Given the description of an element on the screen output the (x, y) to click on. 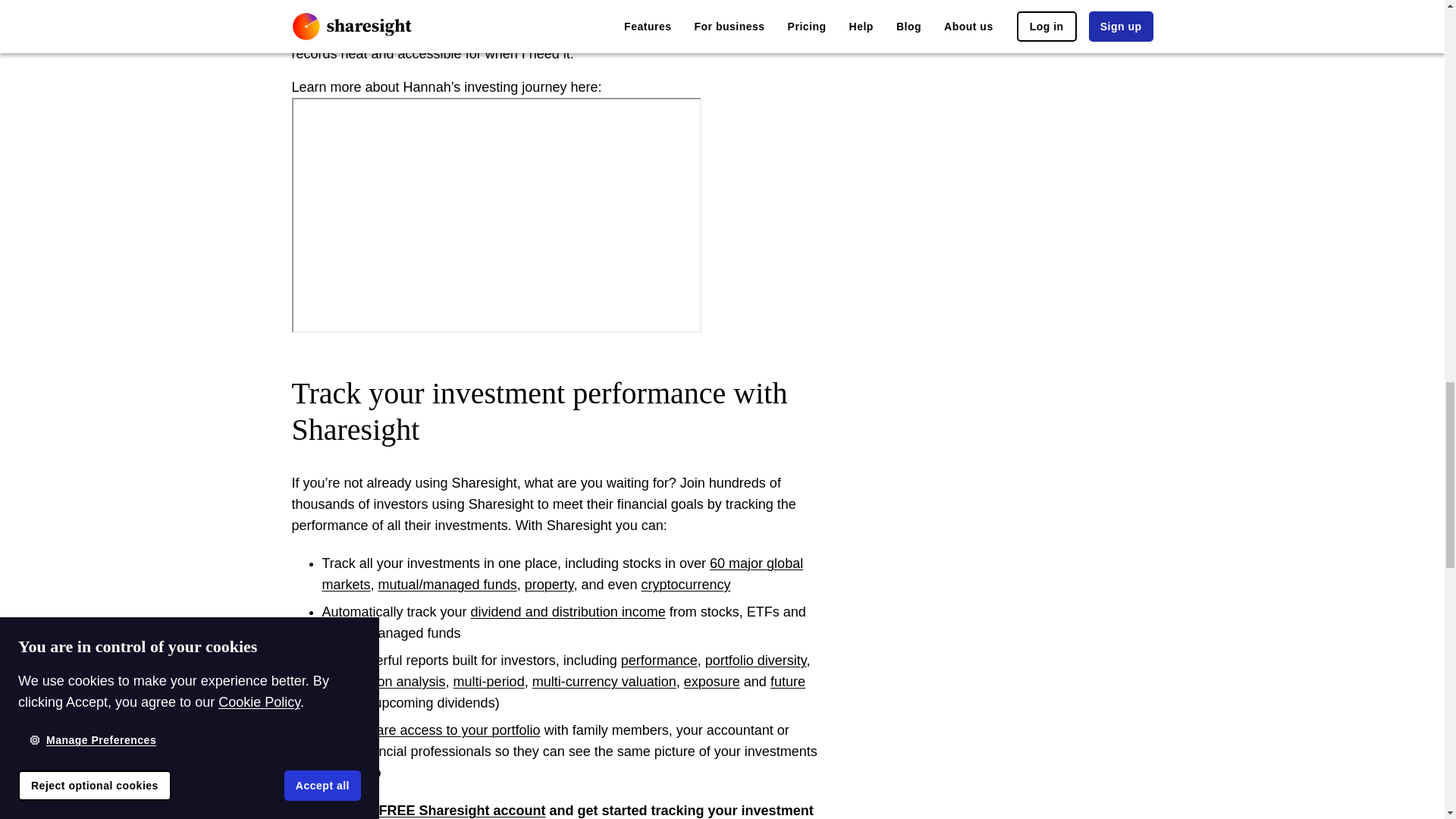
exposure (711, 681)
dividend and distribution income (567, 611)
multi-period (488, 681)
performance (659, 660)
contribution analysis (383, 681)
60 major global markets (562, 574)
Sign up for a FREE Sharesight account (417, 810)
future income (563, 692)
cryptocurrency (685, 584)
share access to your portfolio (451, 729)
